Given the description of an element on the screen output the (x, y) to click on. 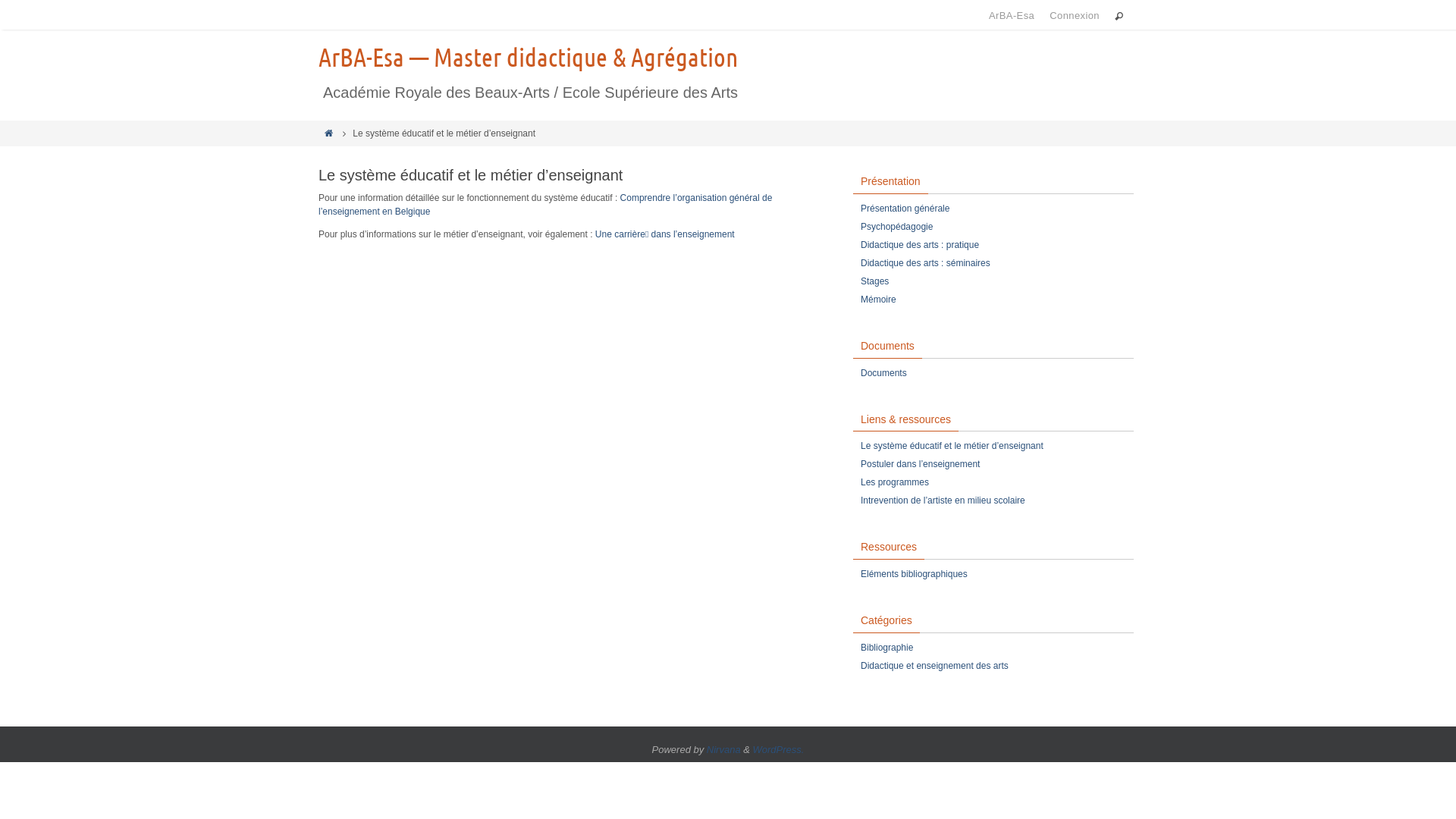
Bibliographie Element type: text (886, 647)
Connexion Element type: text (1074, 15)
Didactique des arts : pratique Element type: text (919, 245)
ArBA-Esa Element type: text (1011, 15)
Stages Element type: text (874, 281)
Didactique et enseignement des arts Element type: text (934, 665)
Les programmes Element type: text (894, 482)
Nirvana Element type: text (723, 749)
Documents Element type: text (883, 373)
WordPress. Element type: text (778, 749)
